Given the description of an element on the screen output the (x, y) to click on. 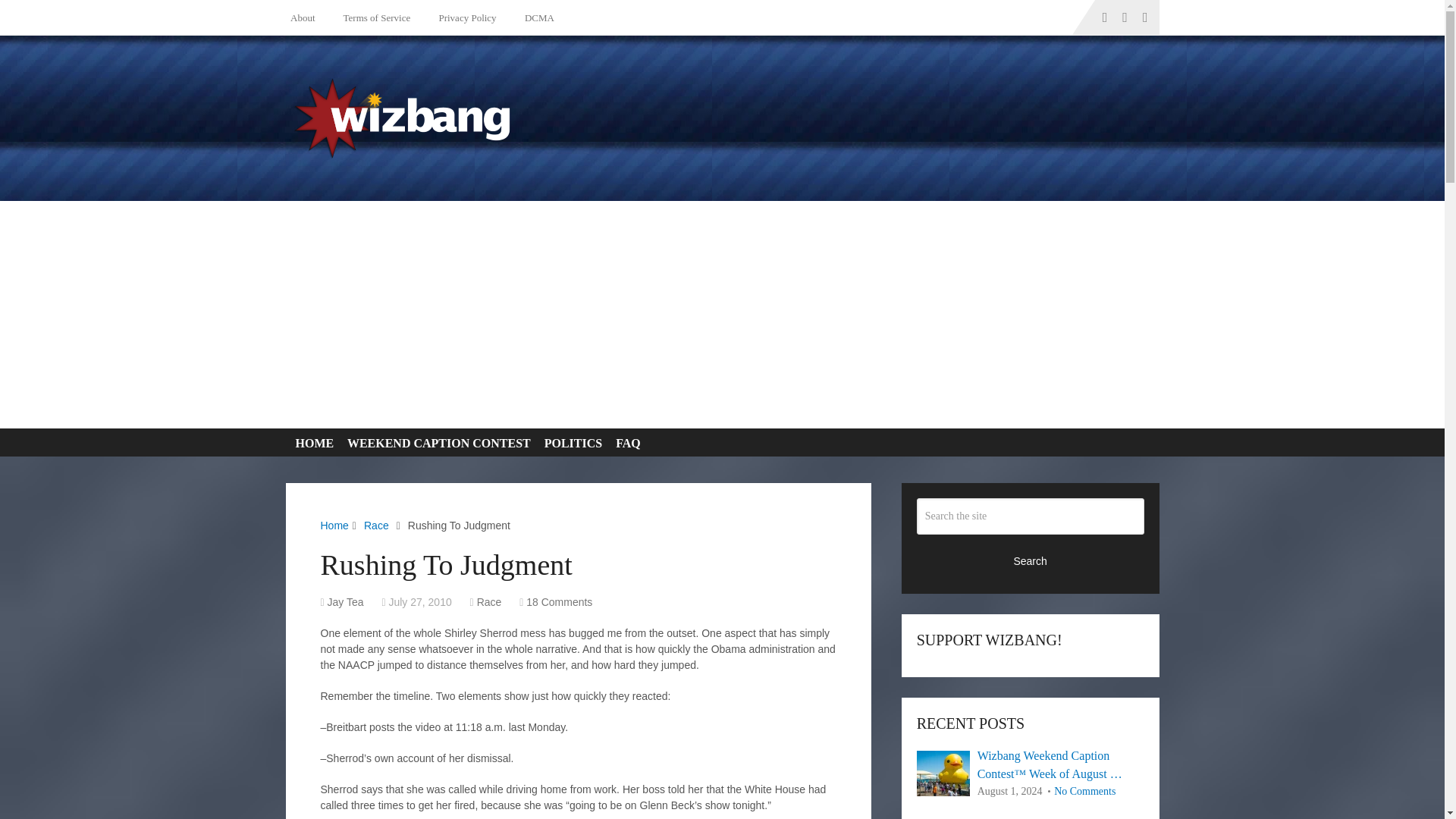
Race (376, 525)
Privacy Policy (464, 17)
View all posts in Race (489, 602)
HOME (311, 443)
POLITICS (569, 443)
Race (489, 602)
Jay Tea (345, 602)
Terms of Service (374, 17)
Search (1030, 560)
FAQ (625, 443)
Home (333, 525)
About (305, 17)
DCMA (537, 17)
WEEKEND CAPTION CONTEST (435, 443)
